Given the description of an element on the screen output the (x, y) to click on. 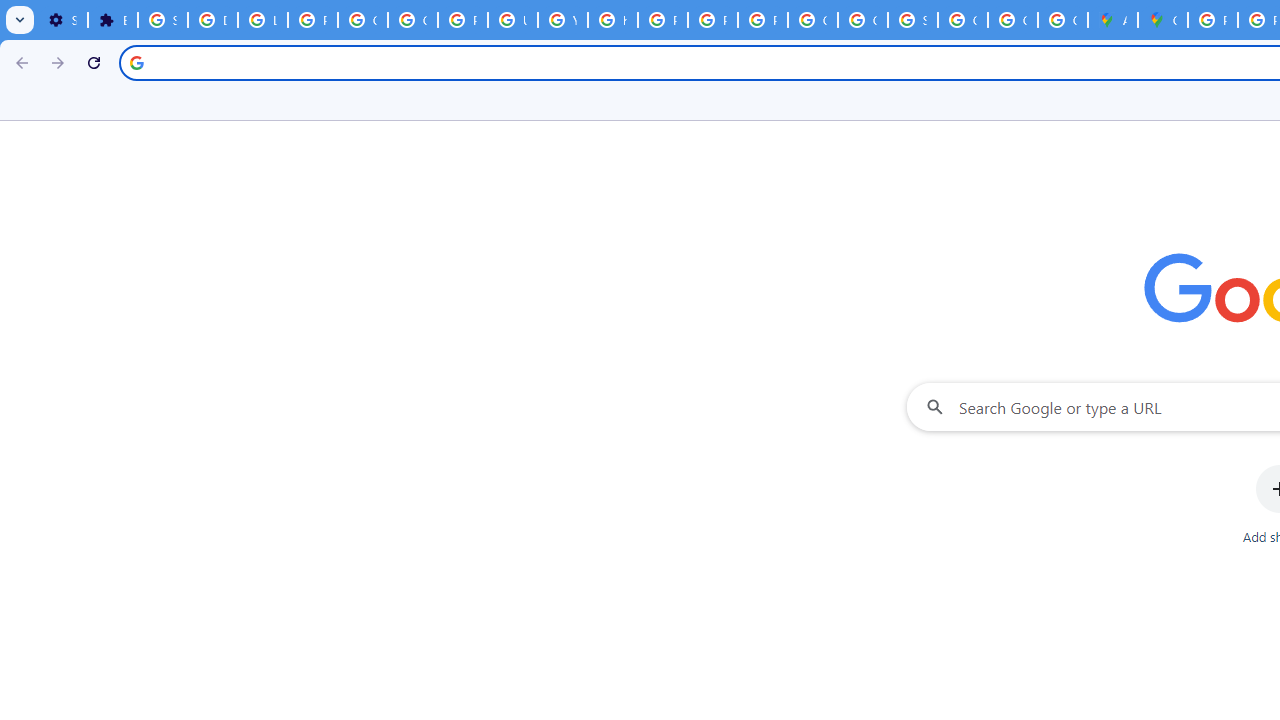
Settings - On startup (62, 20)
Delete photos & videos - Computer - Google Photos Help (213, 20)
https://scholar.google.com/ (612, 20)
YouTube (562, 20)
Google Maps (1162, 20)
